Given the description of an element on the screen output the (x, y) to click on. 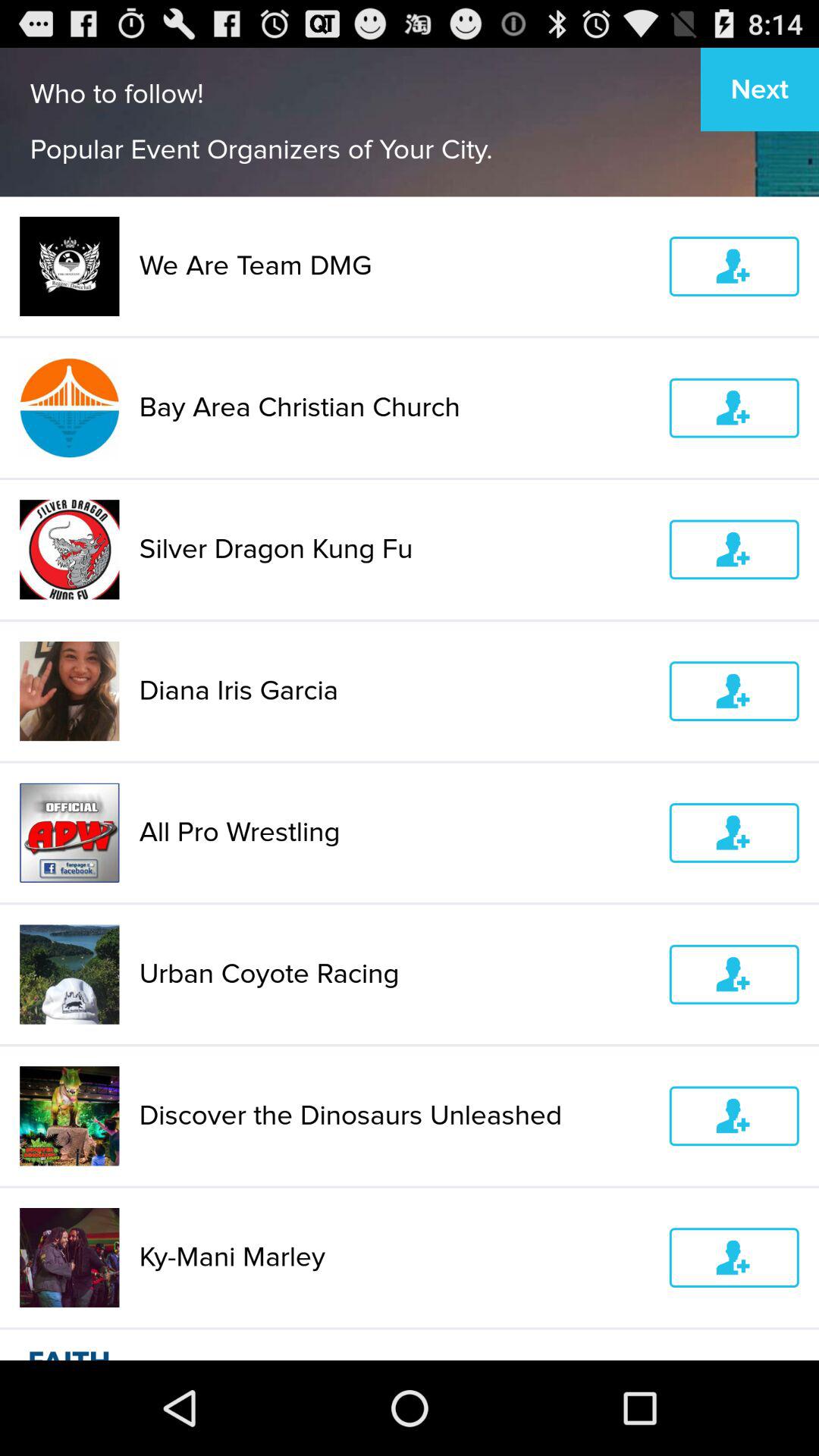
turn on the all pro wrestling item (394, 832)
